Given the description of an element on the screen output the (x, y) to click on. 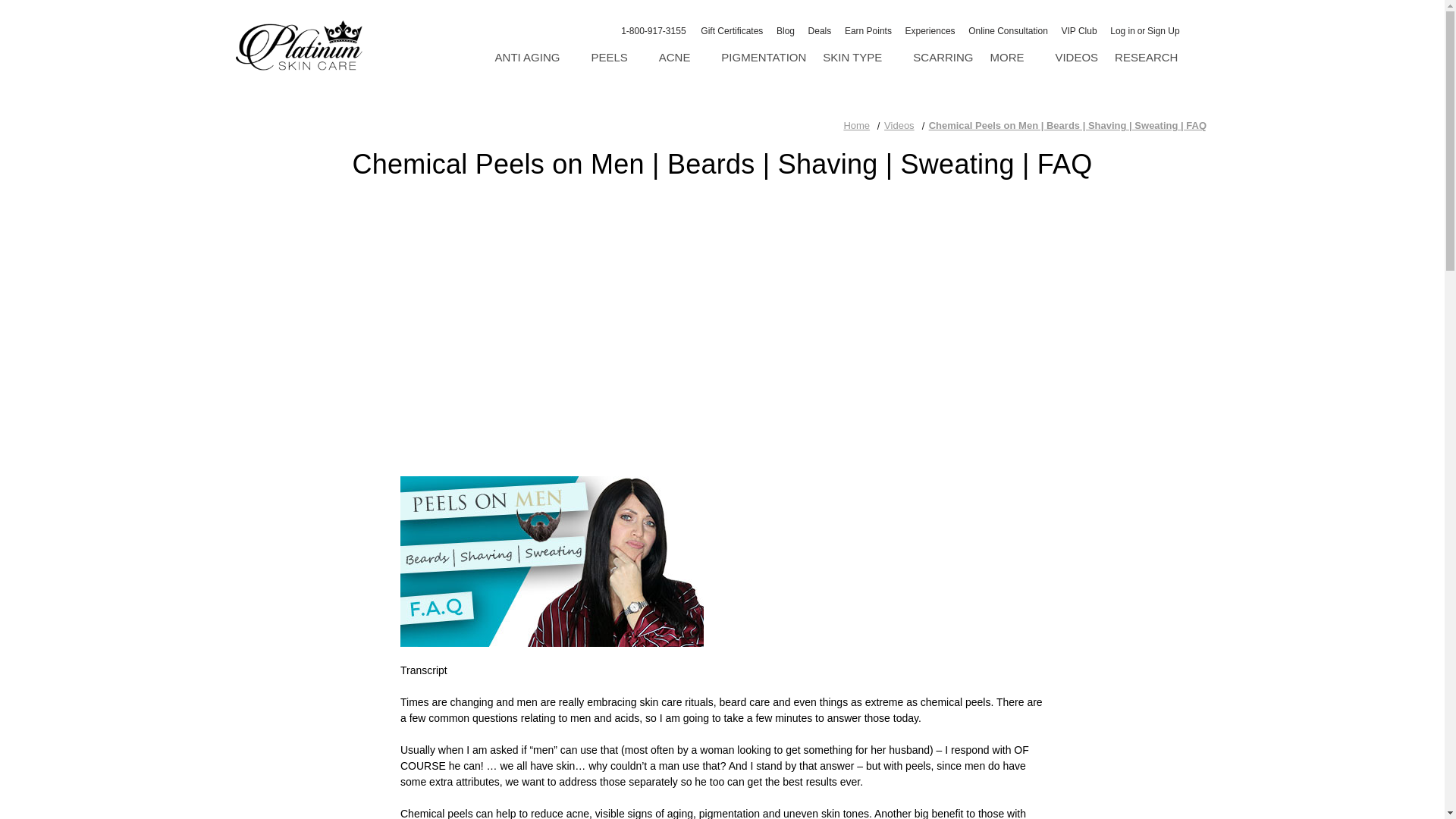
Blog (786, 30)
Sign Up (1163, 30)
VIP Club (1078, 30)
Platinum Skin Care (297, 45)
ANTI AGING (534, 57)
Log in (1122, 30)
Earn Points (868, 30)
Experiences (930, 30)
Online Consultation (1007, 30)
1-800-917-3155 (641, 32)
